Given the description of an element on the screen output the (x, y) to click on. 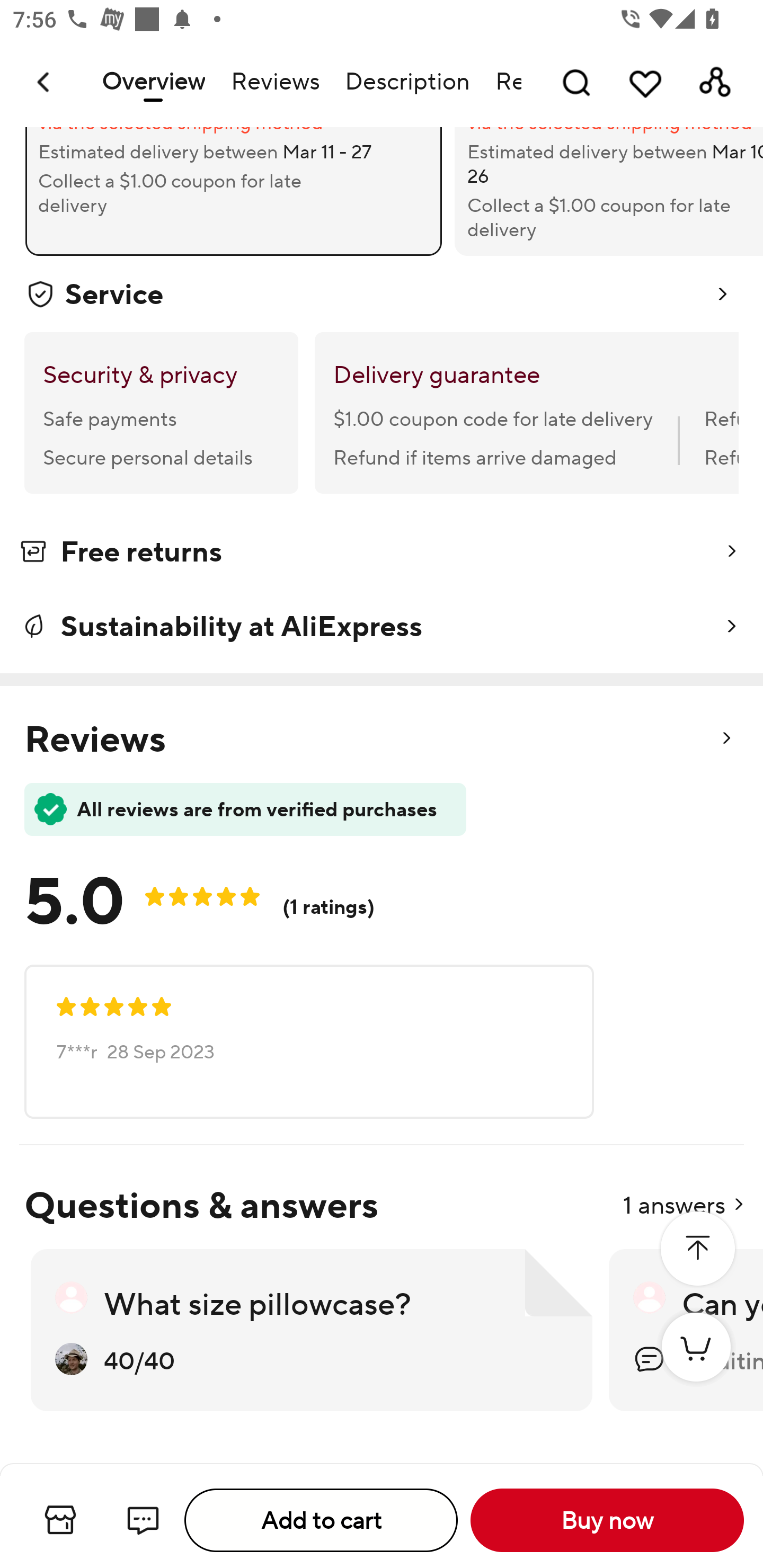
Navigate up (44, 82)
Reviews (274, 81)
Description (406, 81)
Free returns  (381, 554)
Sustainability at AliExpress  (381, 626)
5.0 50.0 (1 ratings) (213, 894)
50.0 7***r 28 Sep 2023 (308, 1041)
 (697, 1248)
What size pillowcase? 40/40 (311, 1330)
Add to cart (320, 1520)
Buy now (606, 1520)
